Given the description of an element on the screen output the (x, y) to click on. 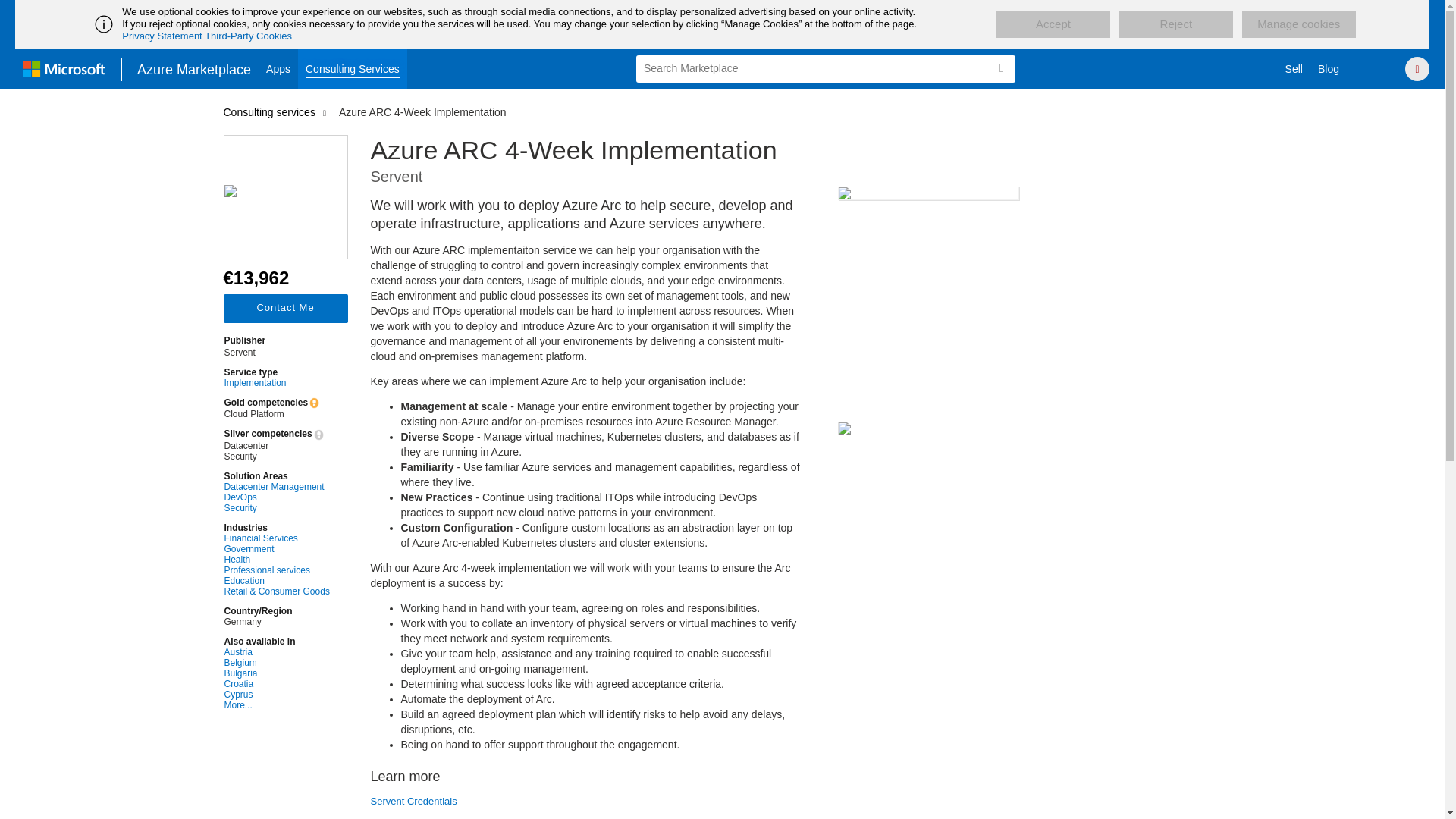
Reject (1176, 23)
Consulting Services (352, 68)
Azure Marketplace (194, 68)
Blog (1328, 68)
Accept (1052, 23)
Search  (1001, 68)
Third-Party Cookies (248, 35)
Apps (278, 68)
Feedback (1377, 68)
Manage cookies (1298, 23)
Search (1001, 68)
Privacy Statement (162, 35)
